Given the description of an element on the screen output the (x, y) to click on. 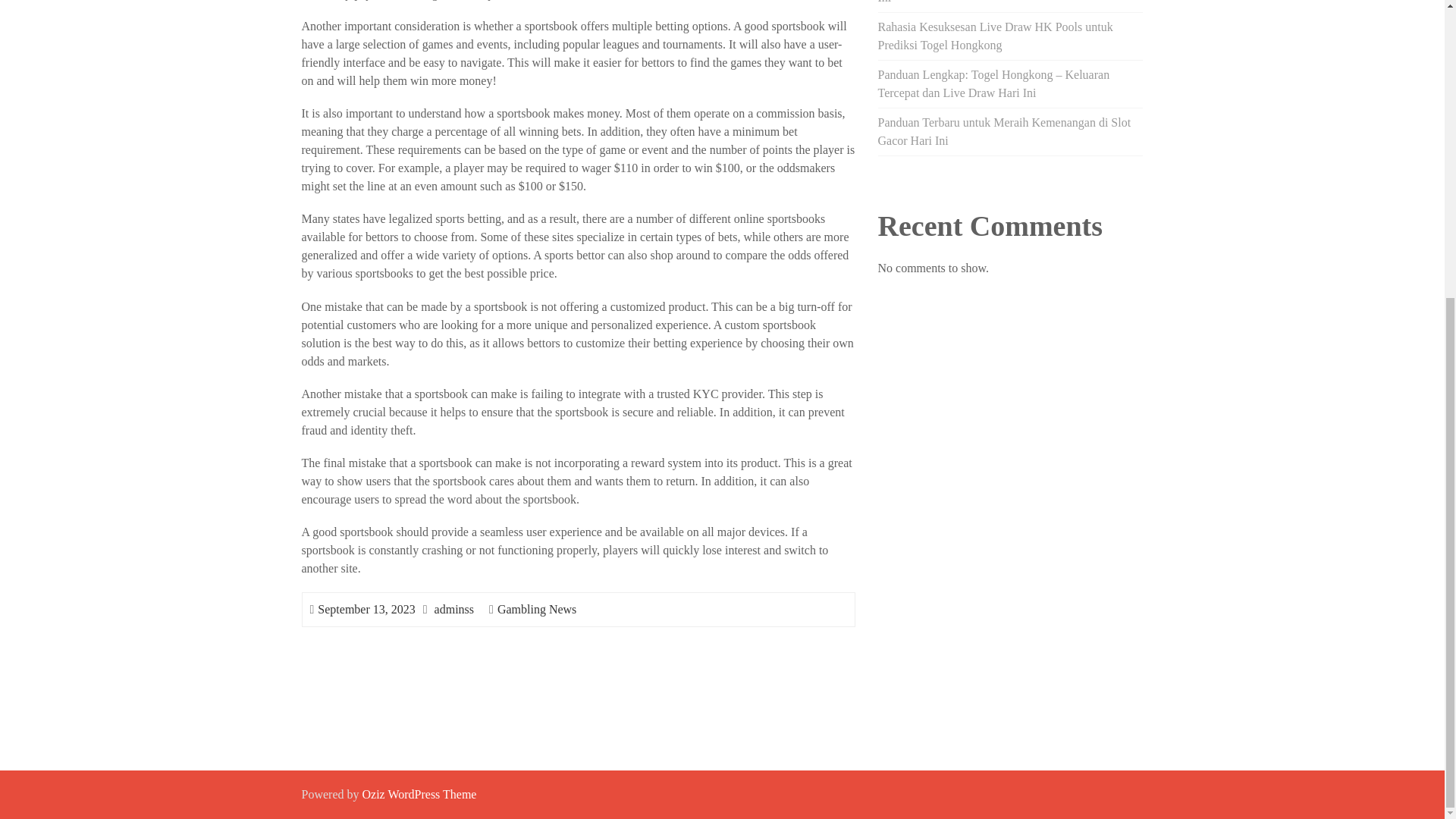
adminss (453, 608)
Oziz WordPress Theme (418, 793)
Gambling News (536, 608)
September 13, 2023 (365, 608)
